Given the description of an element on the screen output the (x, y) to click on. 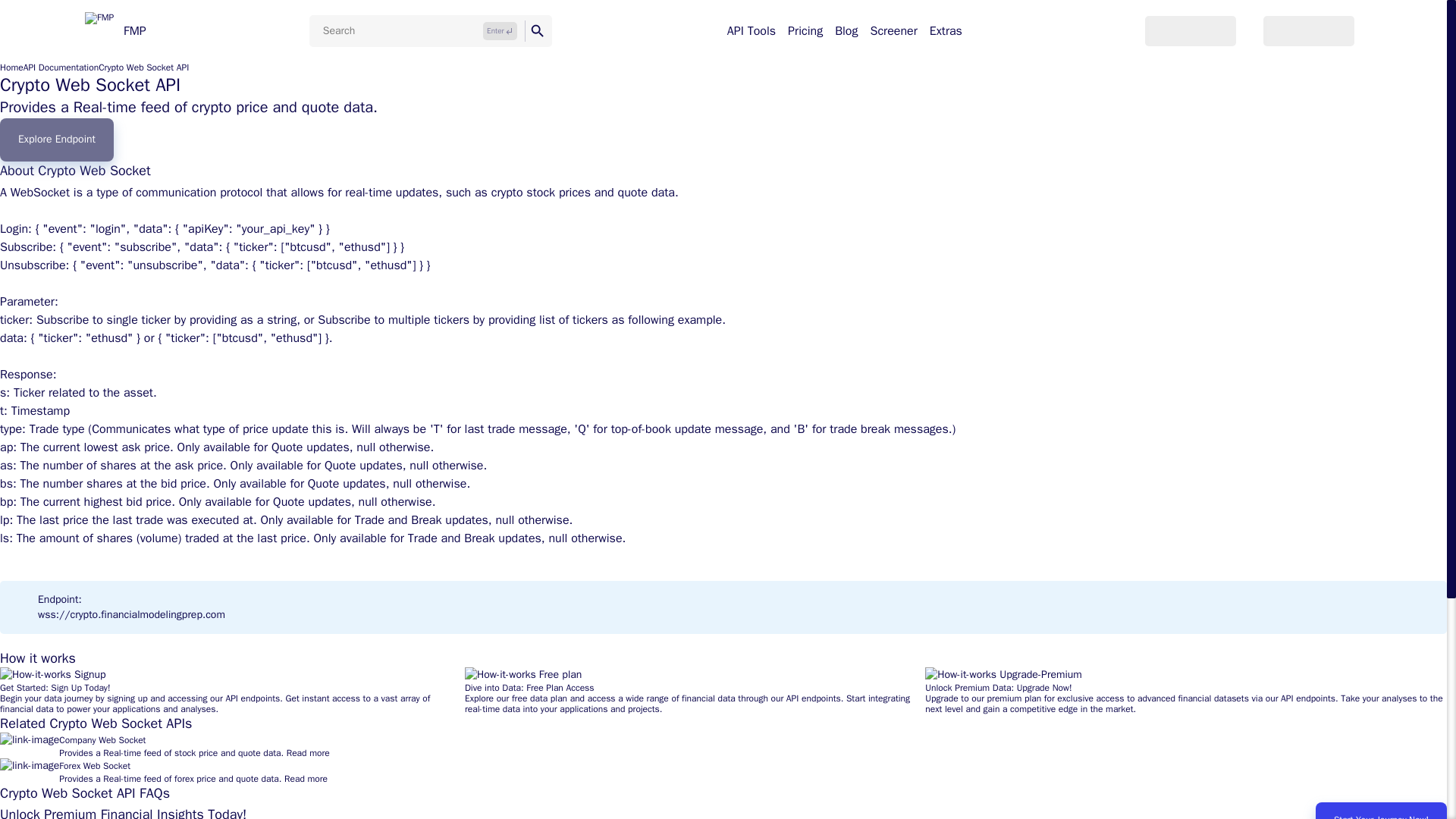
FMP (115, 30)
Pricing (804, 30)
Home (11, 67)
